Given the description of an element on the screen output the (x, y) to click on. 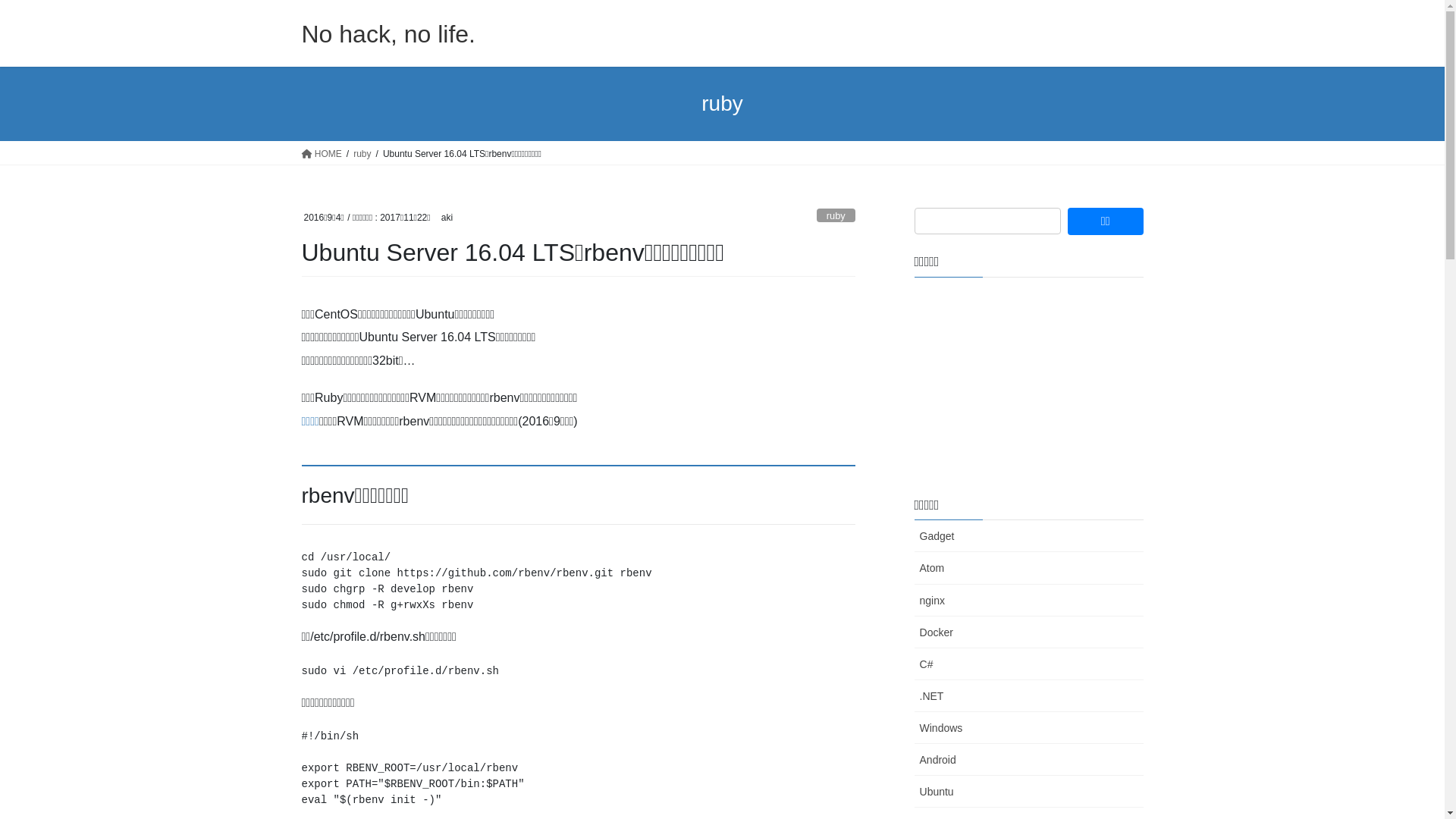
Docker Element type: text (1028, 632)
Atom Element type: text (1028, 567)
.NET Element type: text (1028, 696)
HOME Element type: text (321, 153)
No hack, no life. Element type: text (388, 33)
Ubuntu Element type: text (1028, 791)
ruby Element type: text (835, 215)
Windows Element type: text (1028, 727)
C# Element type: text (1028, 664)
Gadget Element type: text (1028, 536)
nginx Element type: text (1028, 600)
Advertisement Element type: hover (1028, 383)
ruby Element type: text (361, 153)
Android Element type: text (1028, 759)
